Given the description of an element on the screen output the (x, y) to click on. 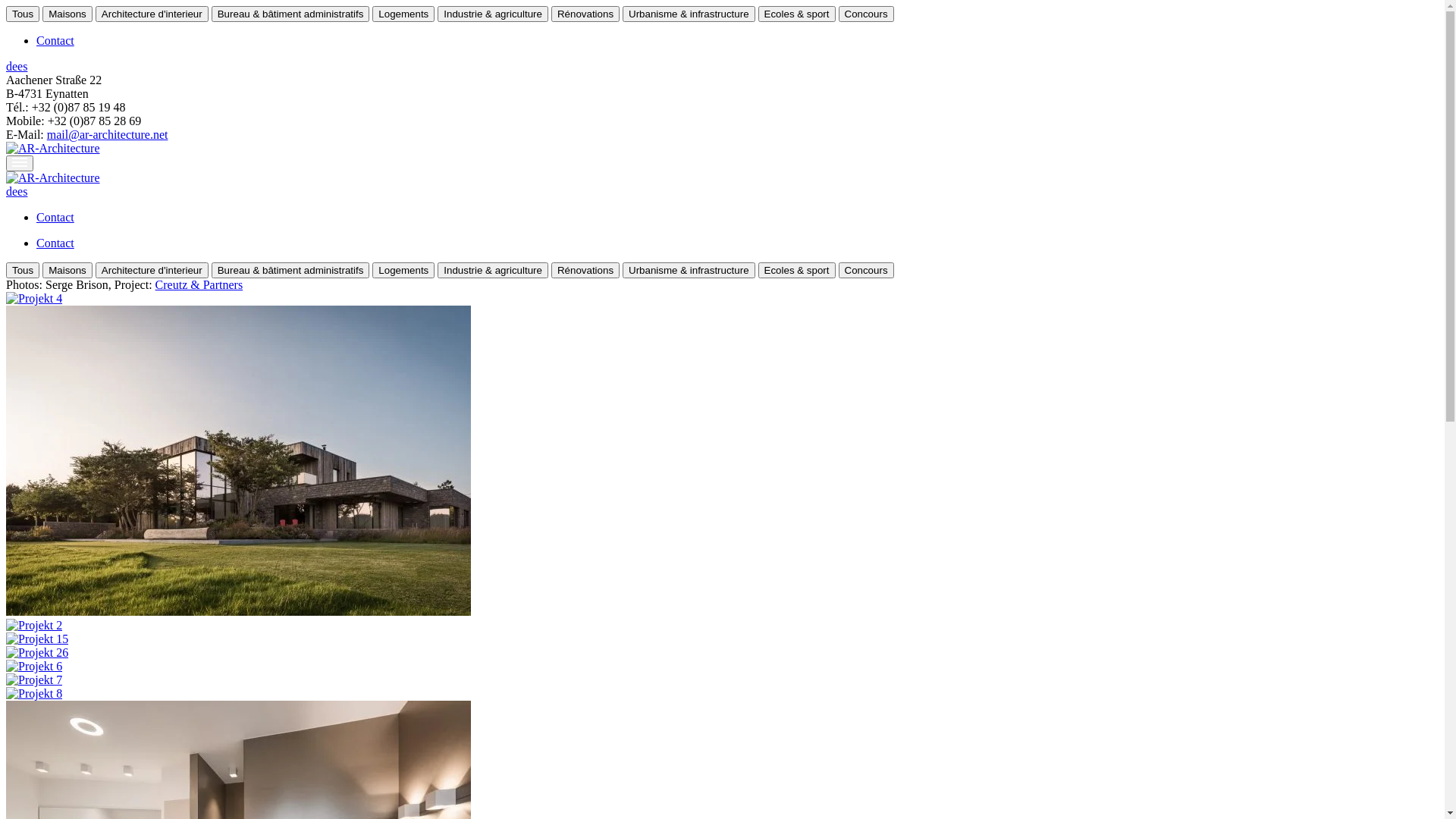
Contact Element type: text (55, 216)
de Element type: text (11, 191)
Ecoles & sport Element type: text (796, 13)
Contact Element type: text (55, 40)
Logements Element type: text (403, 13)
de Element type: text (11, 65)
es Element type: text (22, 191)
Architecture d'interieur Element type: text (151, 270)
mail@ar-architecture.net Element type: text (107, 134)
Architecture d'interieur Element type: text (151, 13)
es Element type: text (22, 65)
Logements Element type: text (403, 270)
Tous Element type: text (22, 13)
Industrie & agriculture Element type: text (492, 13)
Creutz & Partners Element type: text (199, 284)
Industrie & agriculture Element type: text (492, 270)
Tous Element type: text (22, 270)
Concours Element type: text (866, 270)
Maisons Element type: text (67, 13)
Contact Element type: text (55, 242)
Urbanisme & infrastructure Element type: text (688, 13)
Concours Element type: text (866, 13)
Urbanisme & infrastructure Element type: text (688, 270)
Ecoles & sport Element type: text (796, 270)
Maisons Element type: text (67, 270)
